Given the description of an element on the screen output the (x, y) to click on. 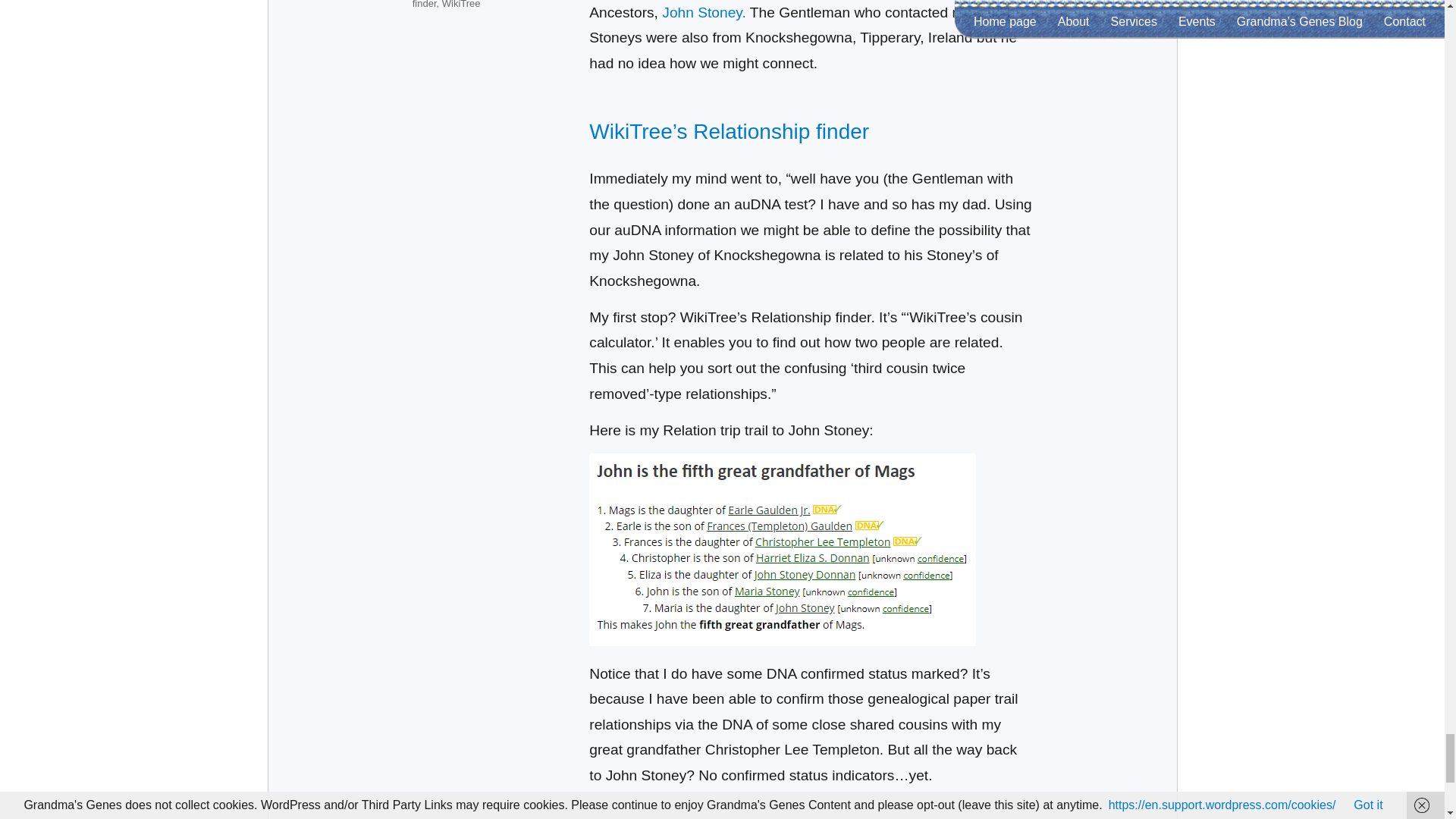
John Stoney.  (705, 12)
relationship finder (468, 4)
WikiTree (461, 4)
